Given the description of an element on the screen output the (x, y) to click on. 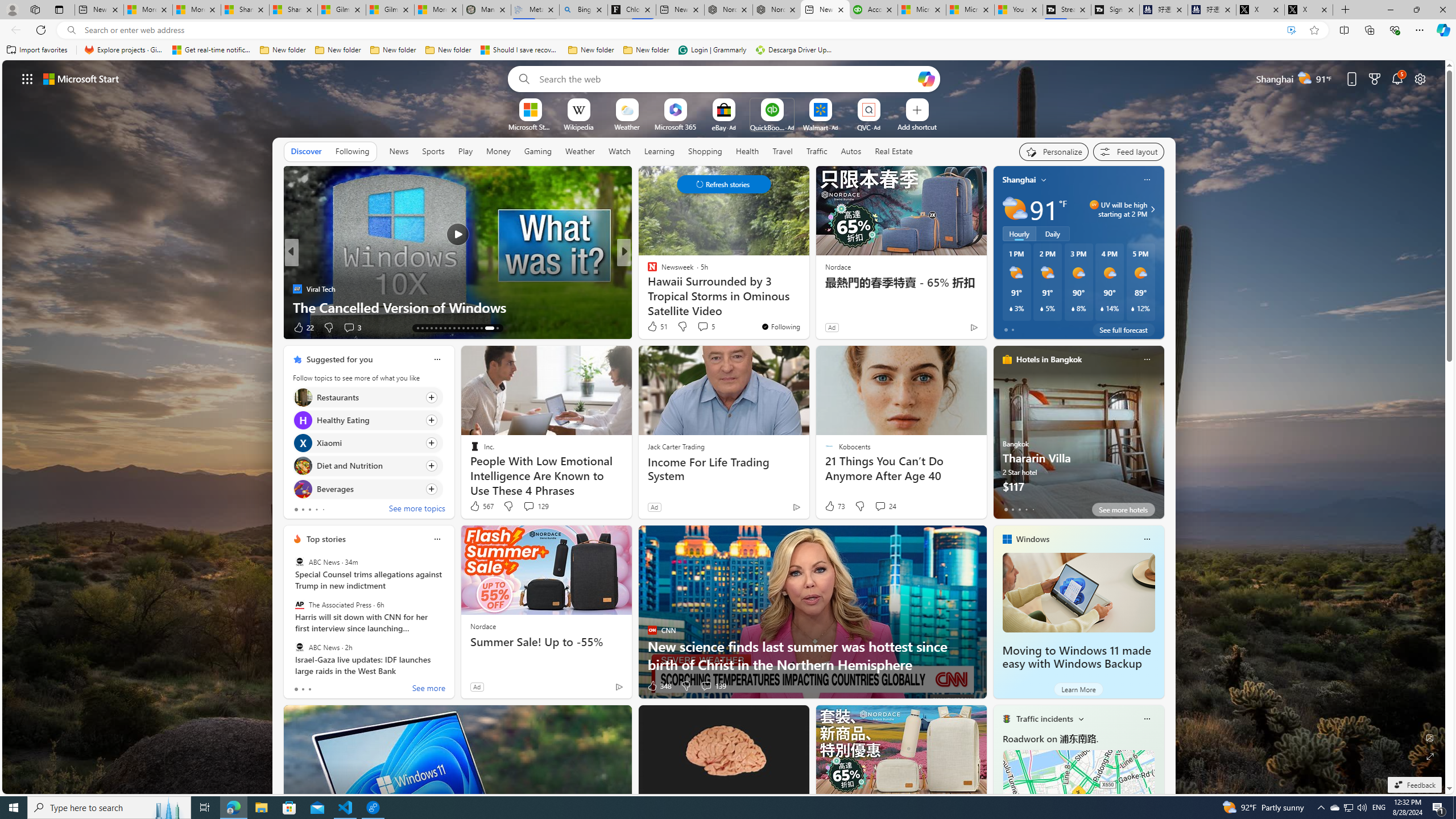
Click to follow topic Beverages (367, 488)
View comments 1 Comment (6, 327)
Edit Background (1430, 737)
Summer Sale! Up to -55% (546, 641)
AutomationID: tab-29 (472, 328)
UV will be high starting at 2 PM (1150, 208)
22 Like (303, 327)
Chloe Sorvino (631, 9)
AutomationID: tab-30 (476, 328)
tab-0 (295, 689)
